Given the description of an element on the screen output the (x, y) to click on. 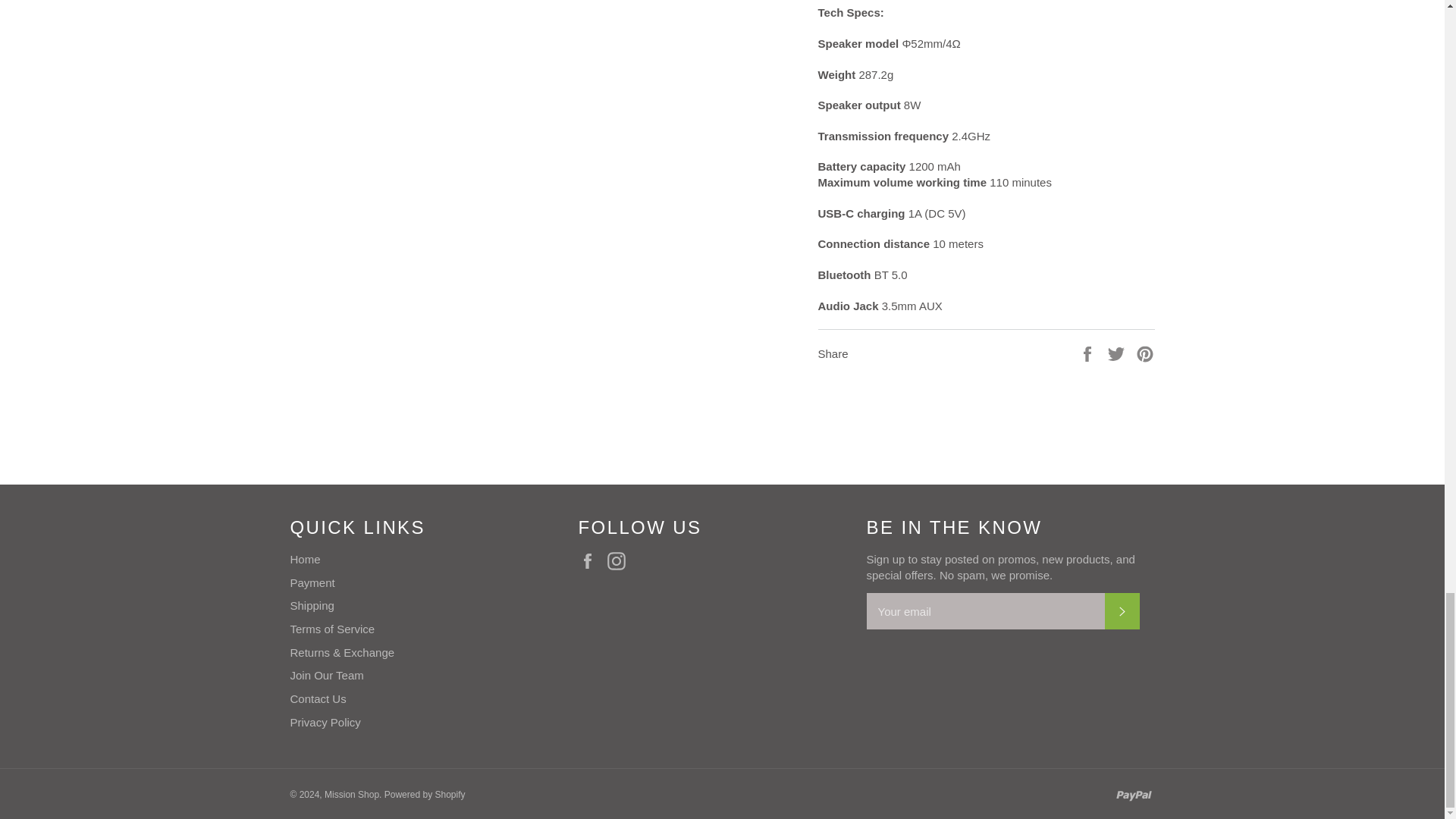
Share on Facebook (1088, 352)
Mission Shop on Facebook (591, 561)
Mission Shop on Instagram (620, 561)
Pin on Pinterest (1144, 352)
Tweet on Twitter (1117, 352)
